Given the description of an element on the screen output the (x, y) to click on. 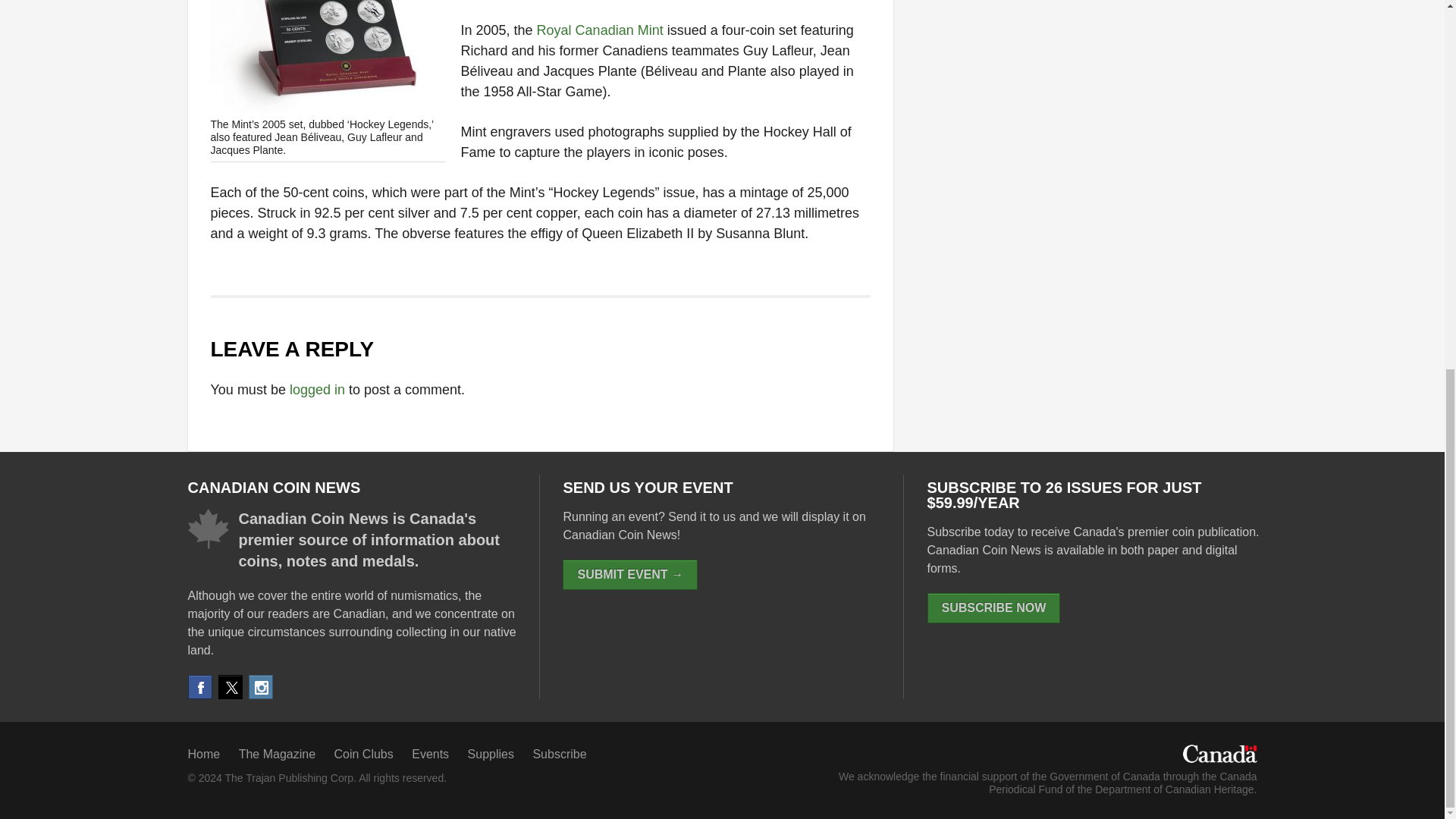
logged in (317, 389)
Submit an Event (629, 574)
Royal Canadian Mint (600, 29)
